Given the description of an element on the screen output the (x, y) to click on. 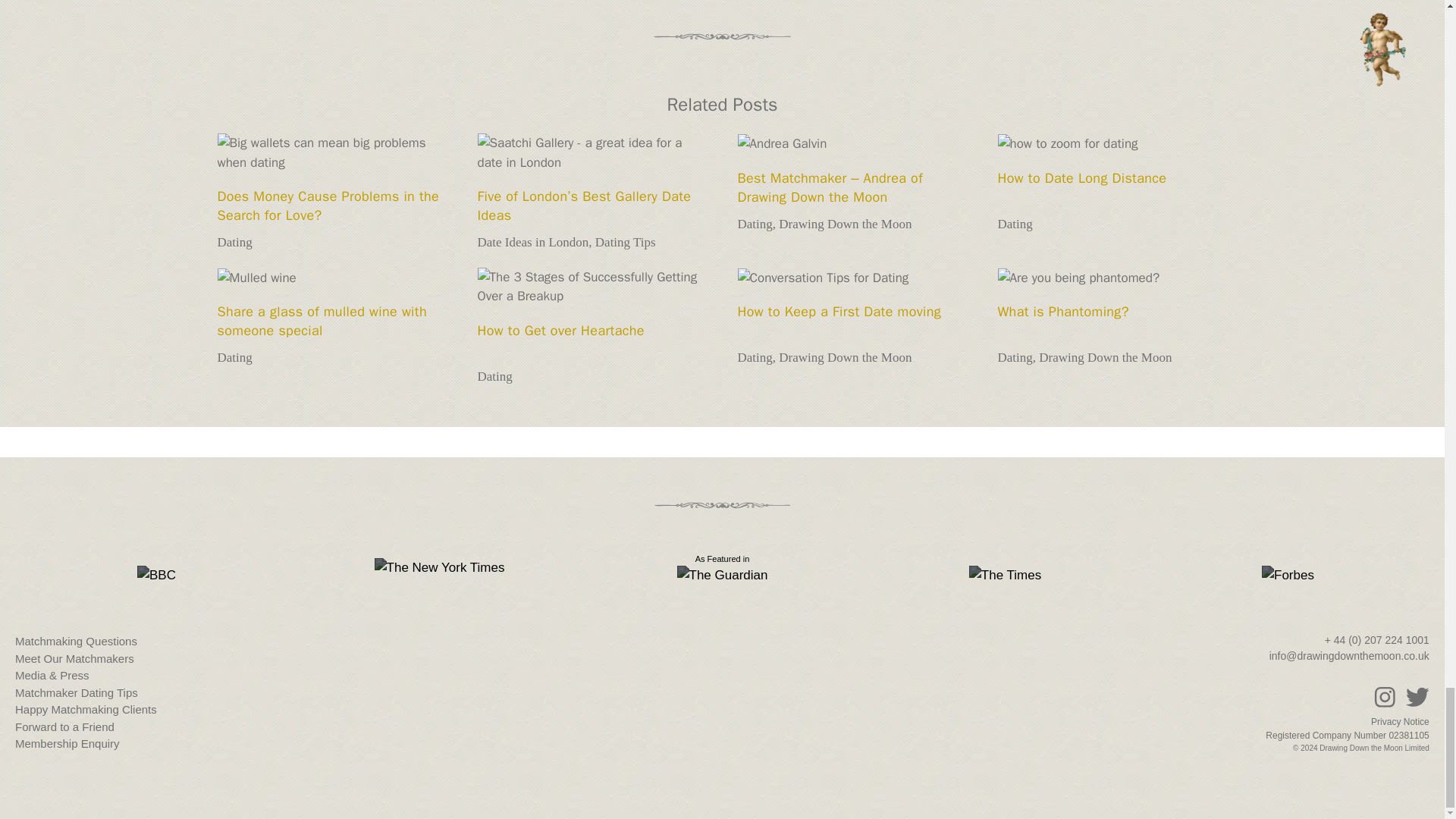
bbc (156, 575)
newyorktimes (439, 567)
